Given the description of an element on the screen output the (x, y) to click on. 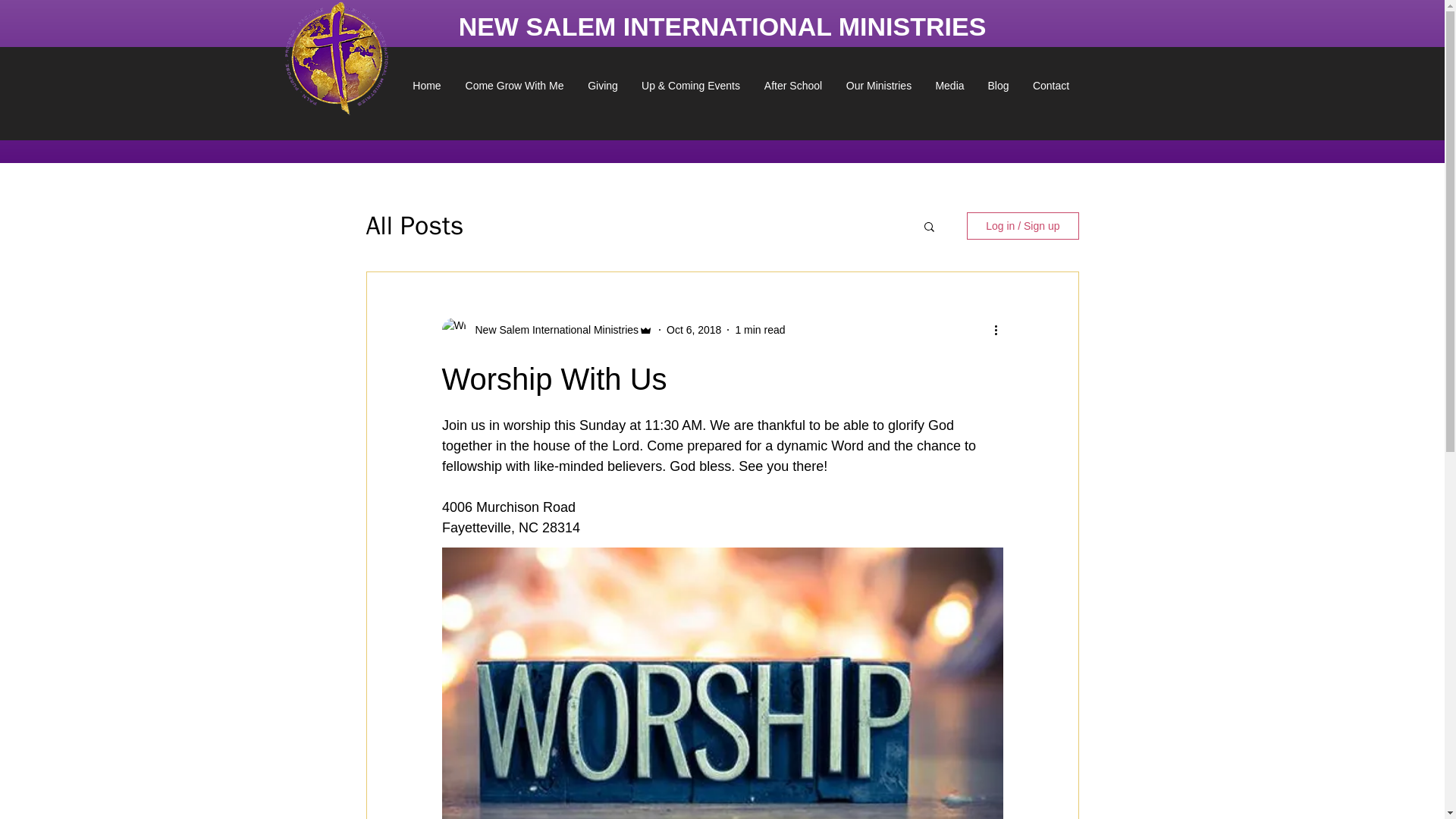
Oct 6, 2018 (693, 328)
Blog (997, 85)
New Salem International Ministries (552, 329)
All Posts (414, 225)
Come Grow With Me (514, 85)
NEW SALEM INTERNATIONAL MINISTRIES (722, 26)
Giving (602, 85)
Our Ministries (878, 85)
1 min read (759, 328)
After School (793, 85)
Media (949, 85)
Home (426, 85)
Contact (1050, 85)
